Given the description of an element on the screen output the (x, y) to click on. 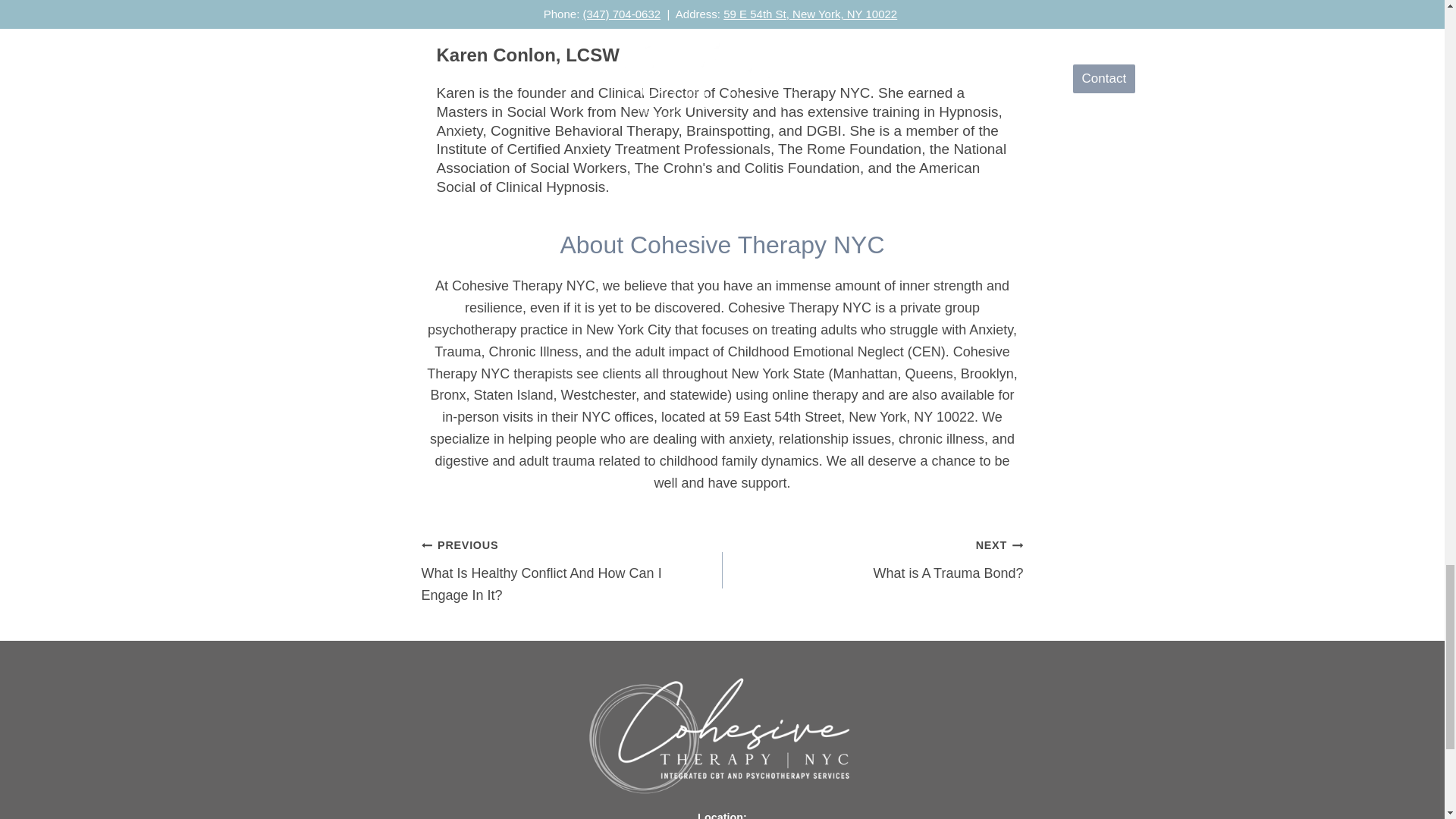
Karen Conlon, LCSW (872, 558)
